Given the description of an element on the screen output the (x, y) to click on. 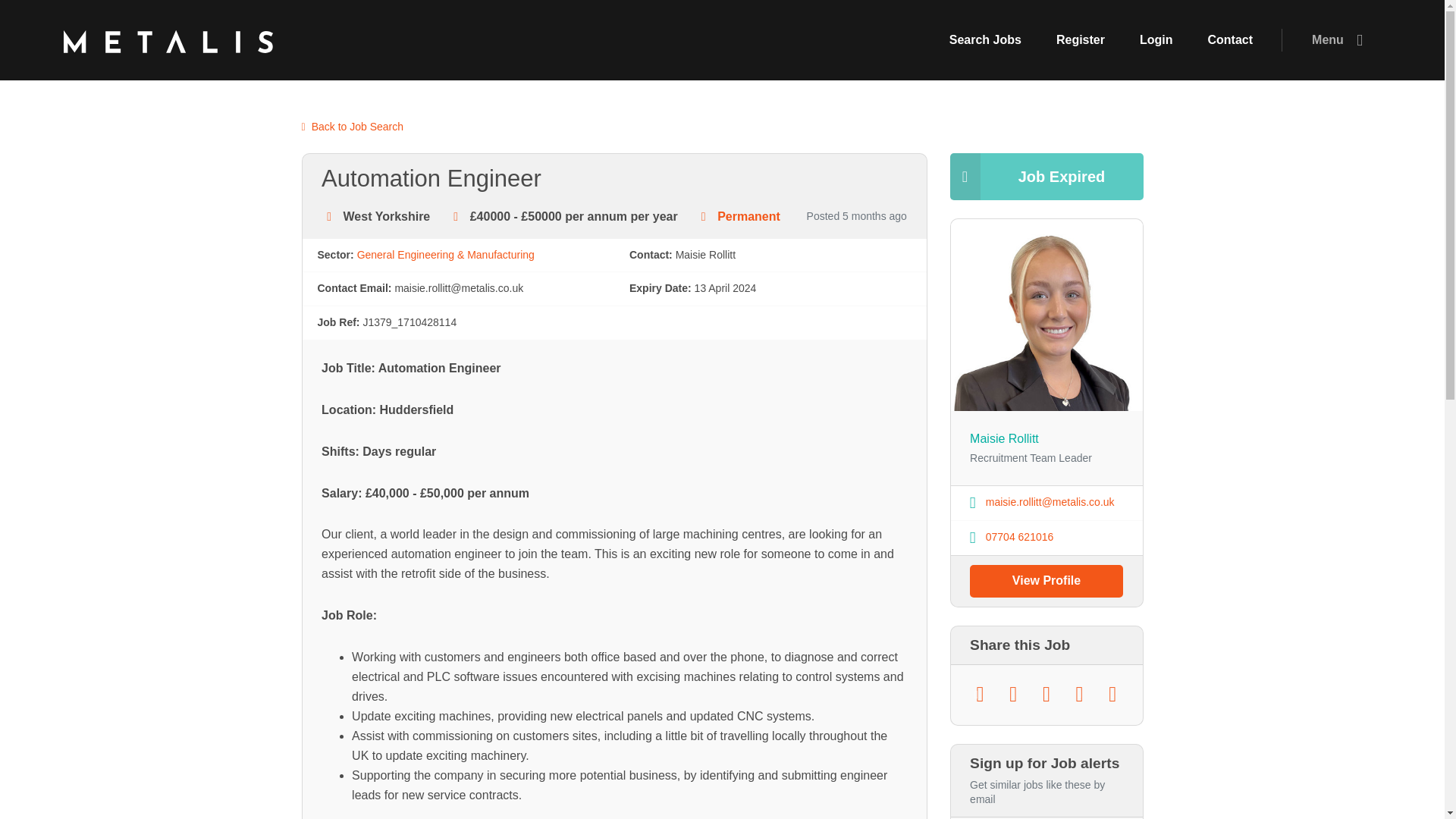
Menu (1340, 40)
Register (1080, 40)
Contact (1230, 40)
07704 621016 (1010, 536)
View Profile (1045, 581)
Salary (455, 216)
Permanent (748, 215)
Job Type (703, 216)
Login (1156, 40)
Job Expired (1045, 176)
